Given the description of an element on the screen output the (x, y) to click on. 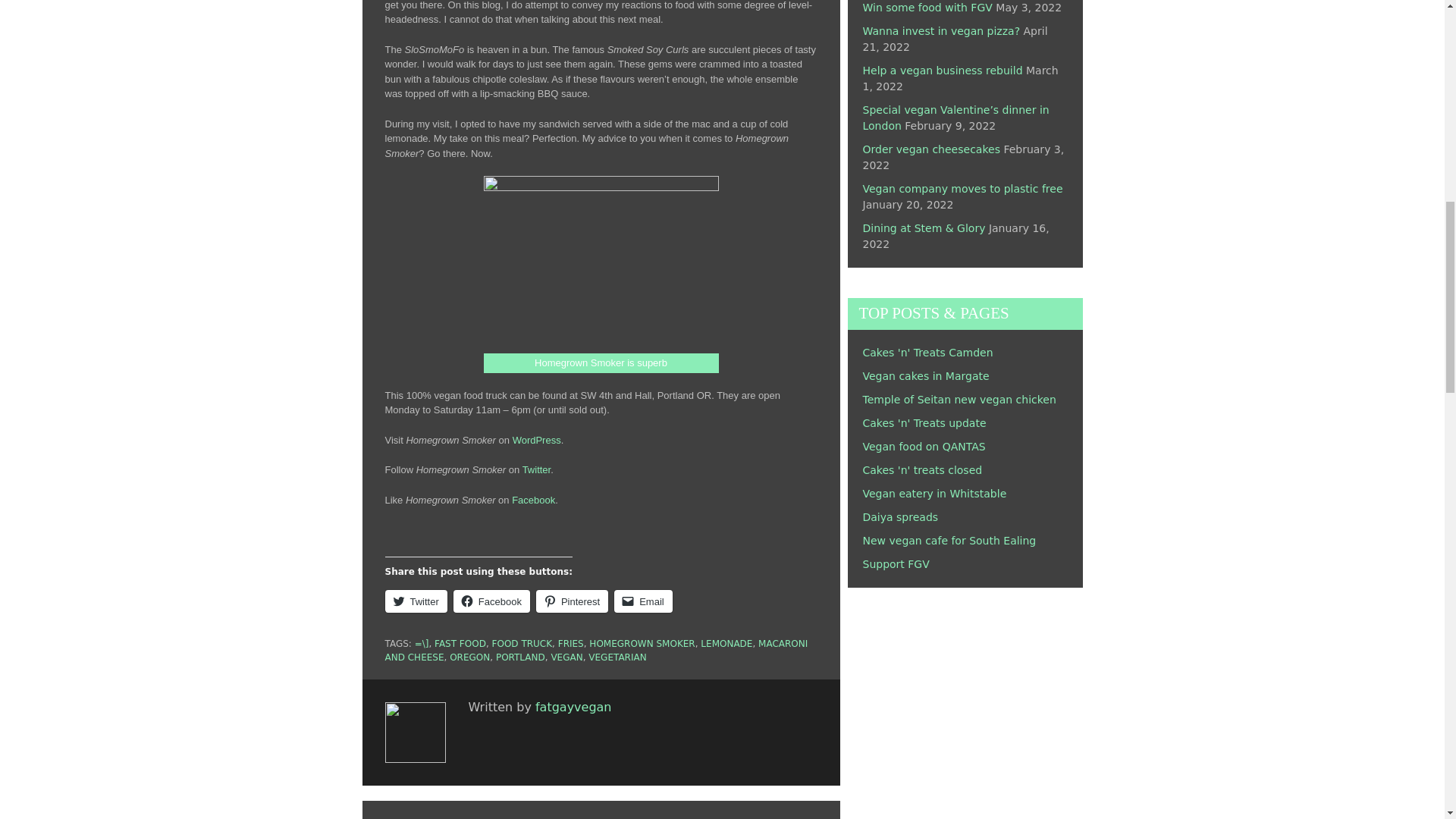
Facebook (490, 600)
Twitter (415, 600)
Click to email a link to a friend (643, 600)
meal and drink (601, 264)
FAST FOOD (459, 643)
Click to share on Facebook (490, 600)
OREGON (469, 656)
VEGETARIAN (617, 656)
MACARONI AND CHEESE (596, 650)
Facebook (533, 500)
Twitter (536, 469)
Homegrown Smoker on Facebook (533, 500)
Pinterest (571, 600)
fatgayvegan (573, 707)
Click to share on Twitter (415, 600)
